Given the description of an element on the screen output the (x, y) to click on. 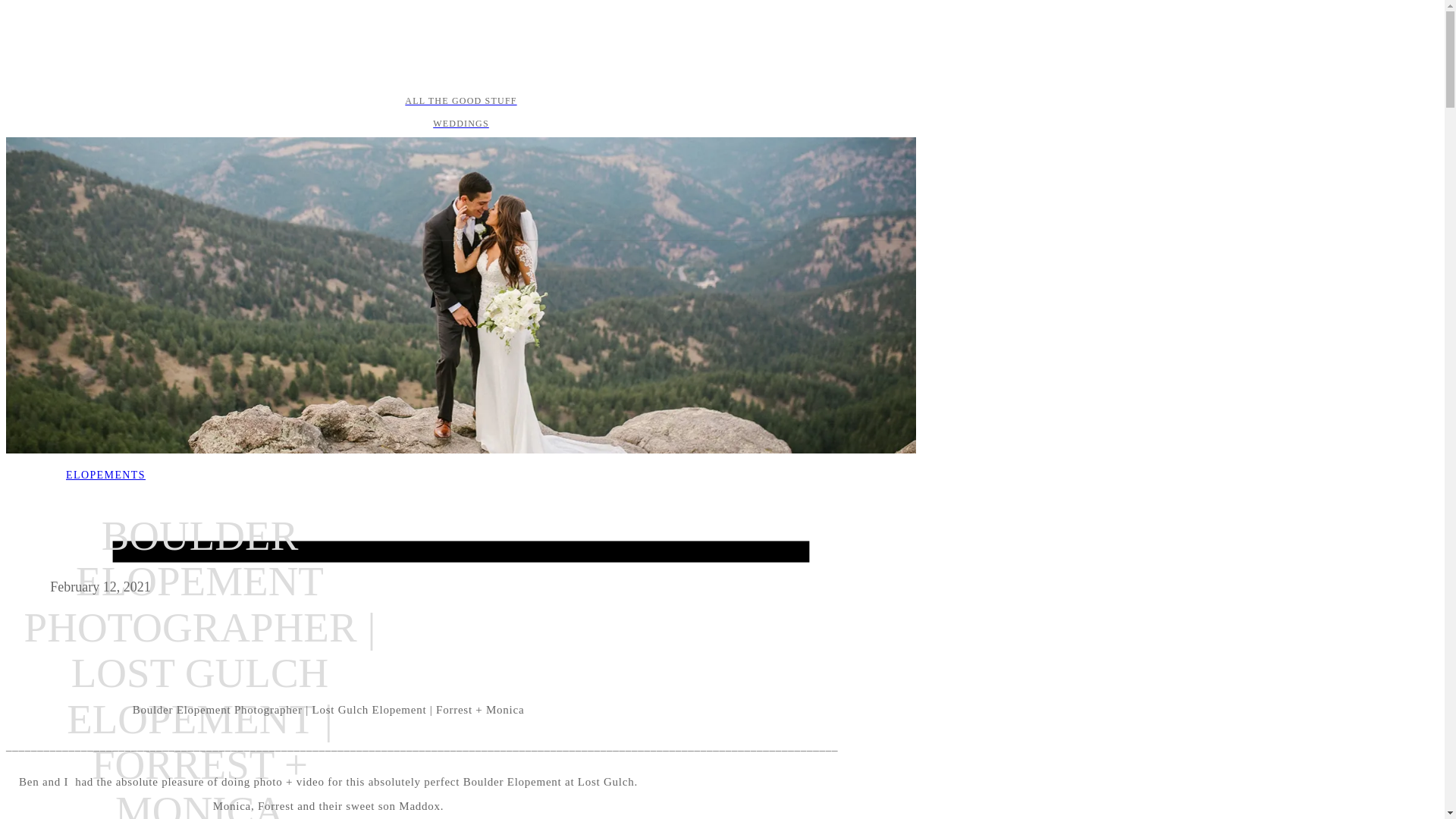
WEDDINGS (460, 123)
ELOPEMENTS (105, 474)
COUPLES (460, 146)
ELOPEMENTS (460, 169)
BEST OF (460, 192)
ALL THE GOOD STUFF (460, 100)
